Given the description of an element on the screen output the (x, y) to click on. 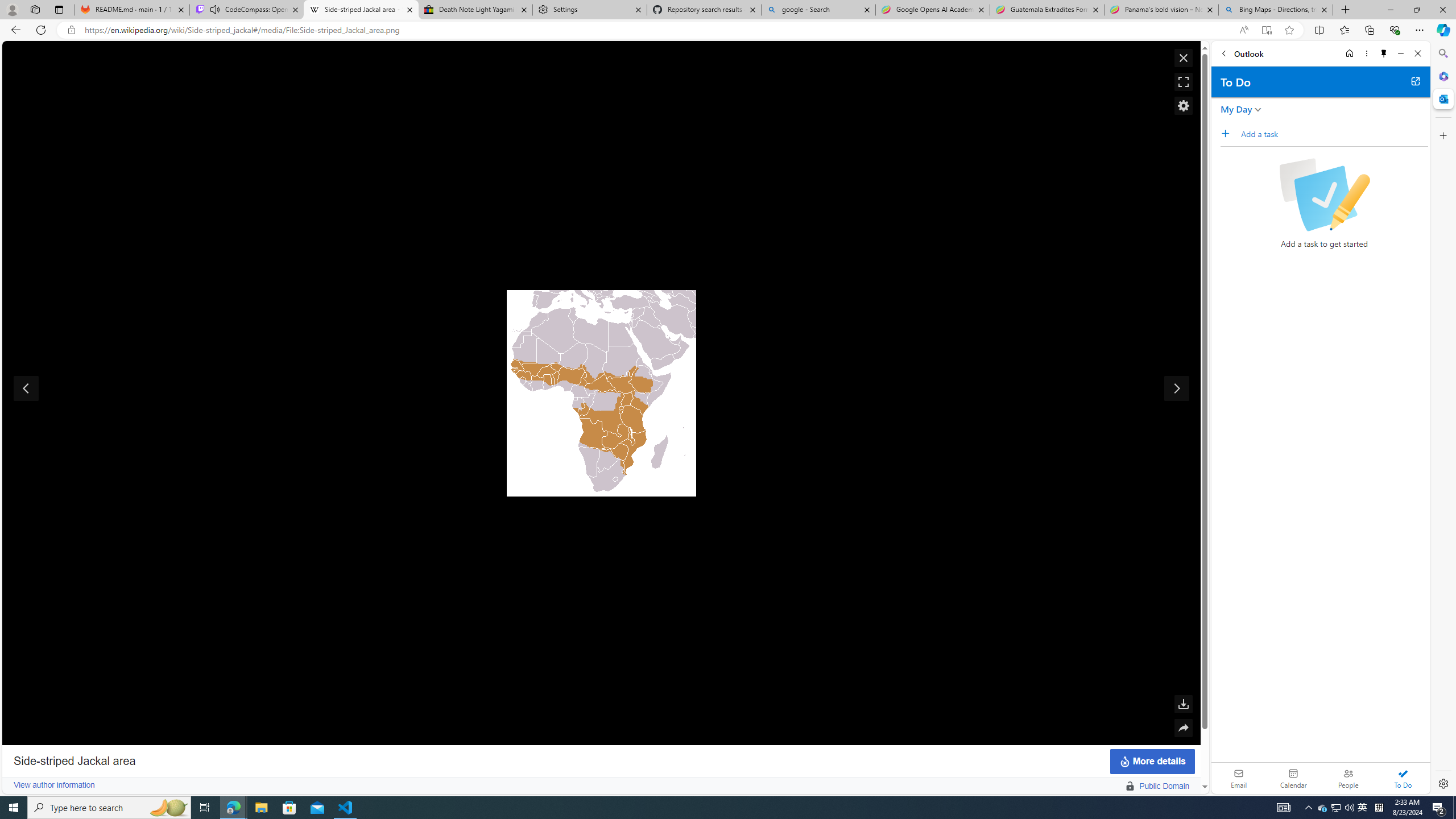
More details (1152, 761)
Calendar. Date today is 22 (1293, 777)
Open in new tab (1414, 80)
undefined (600, 392)
Mute tab (215, 8)
